Given the description of an element on the screen output the (x, y) to click on. 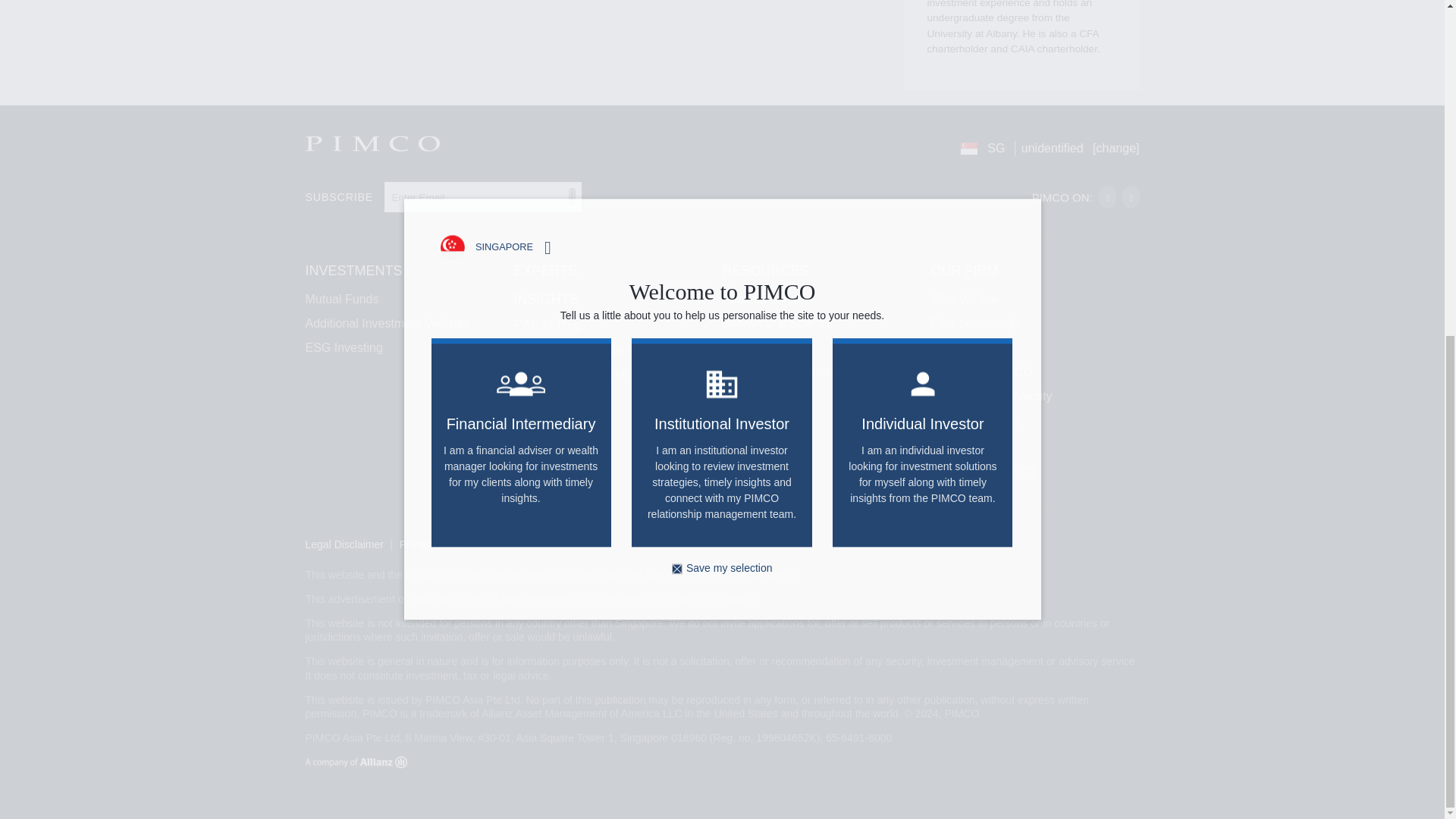
on (676, 4)
